Given the description of an element on the screen output the (x, y) to click on. 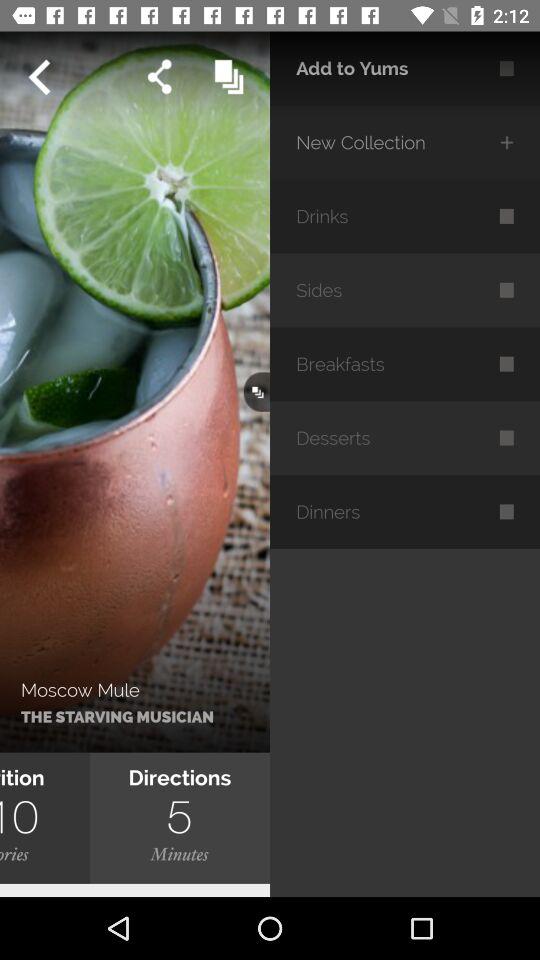
share on social media (159, 76)
